Given the description of an element on the screen output the (x, y) to click on. 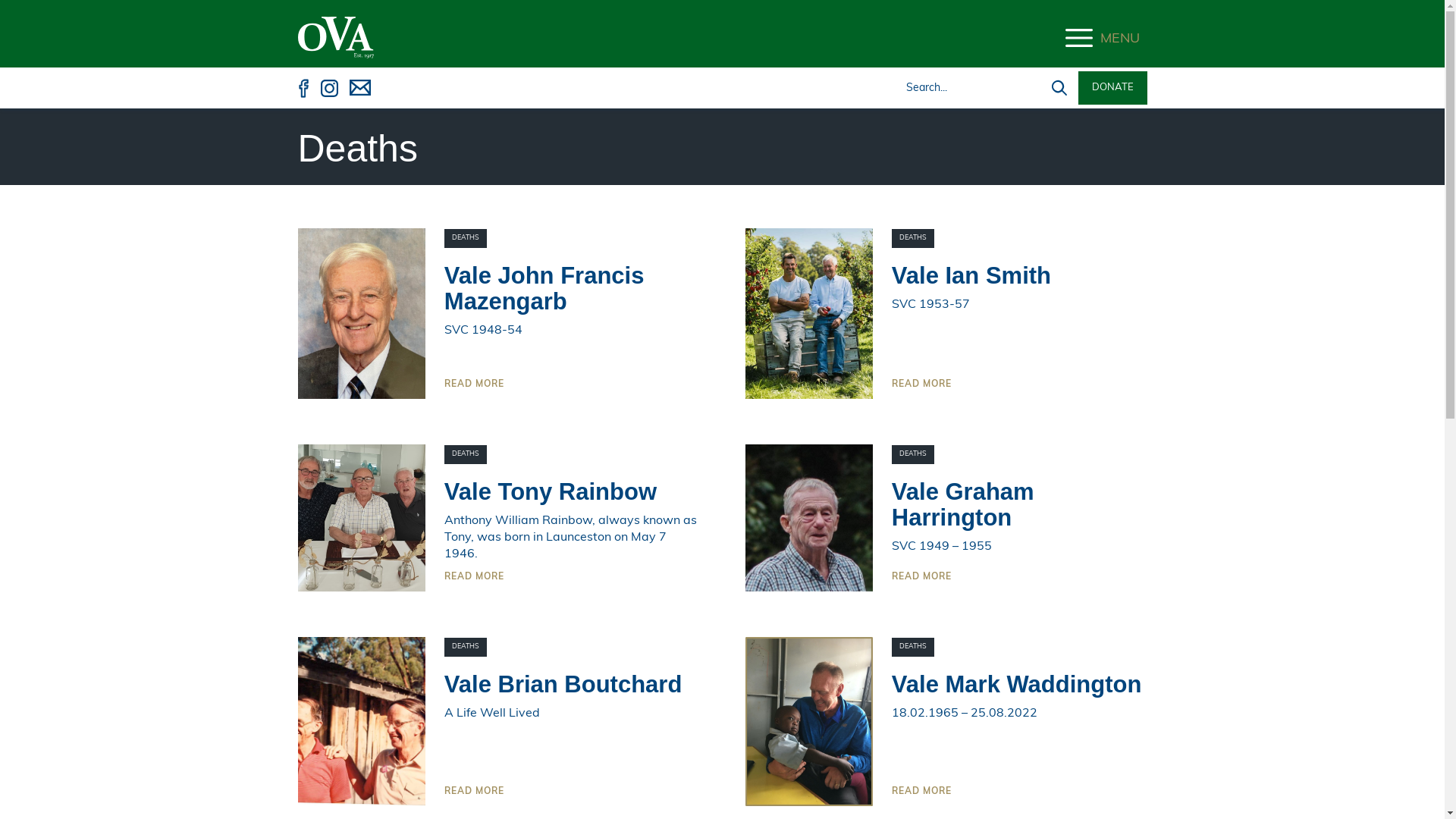
DEATHS Element type: text (465, 454)
DEATHS Element type: text (912, 454)
Vale Brian Boutchard
A Life Well Lived
READ MORE Element type: text (571, 735)
DEATHS Element type: text (465, 646)
DEATHS Element type: text (465, 238)
DONATE Element type: text (1112, 87)
Vale John Francis Mazengarb
SVC 1948-54
READ MORE Element type: text (571, 326)
DEATHS Element type: text (912, 646)
DEATHS Element type: text (912, 238)
Vale Ian Smith
SVC 1953-57
READ MORE Element type: text (1019, 326)
MENU Element type: text (1115, 31)
